Given the description of an element on the screen output the (x, y) to click on. 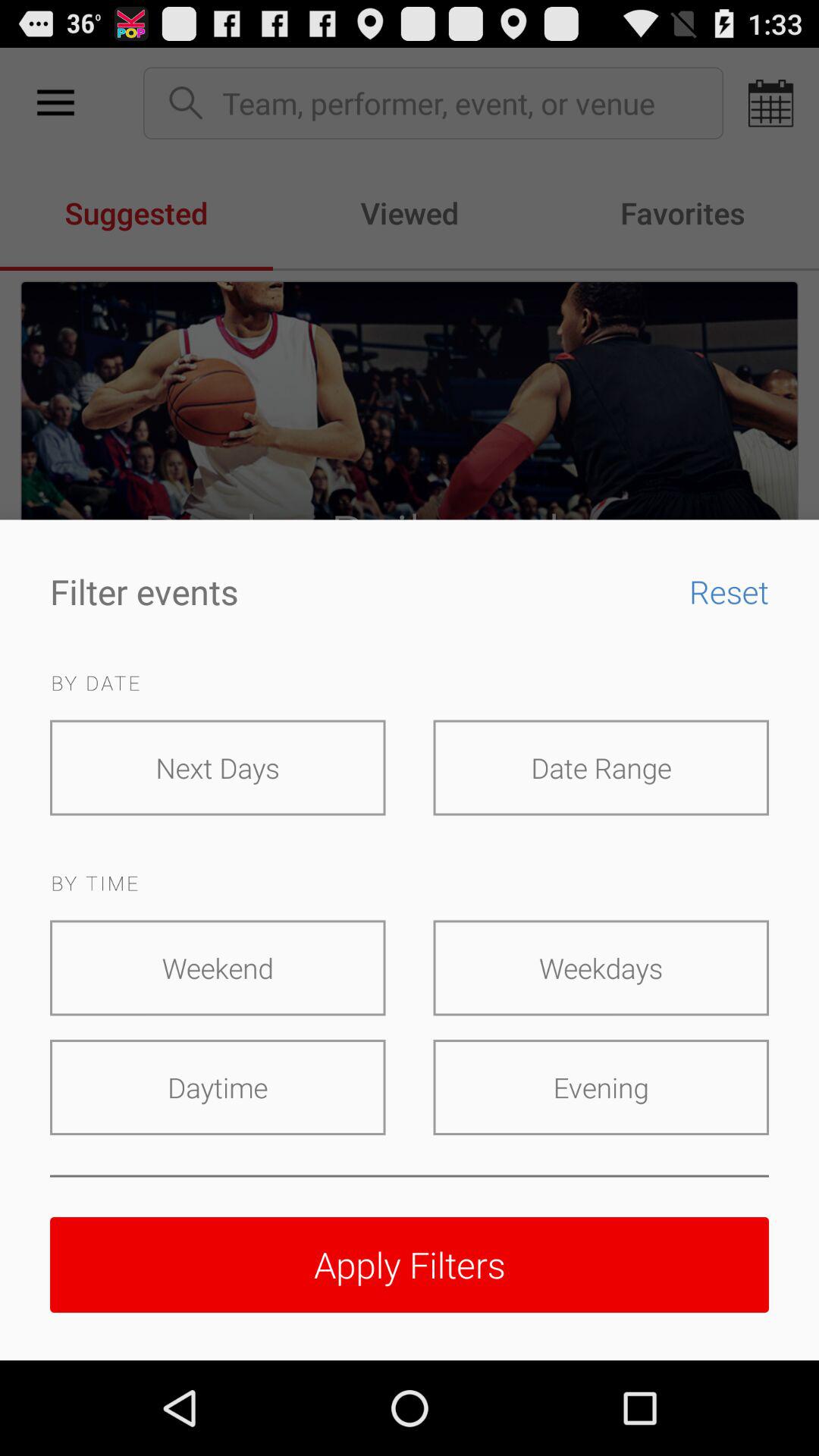
select item to the right of daytime item (600, 1087)
